Given the description of an element on the screen output the (x, y) to click on. 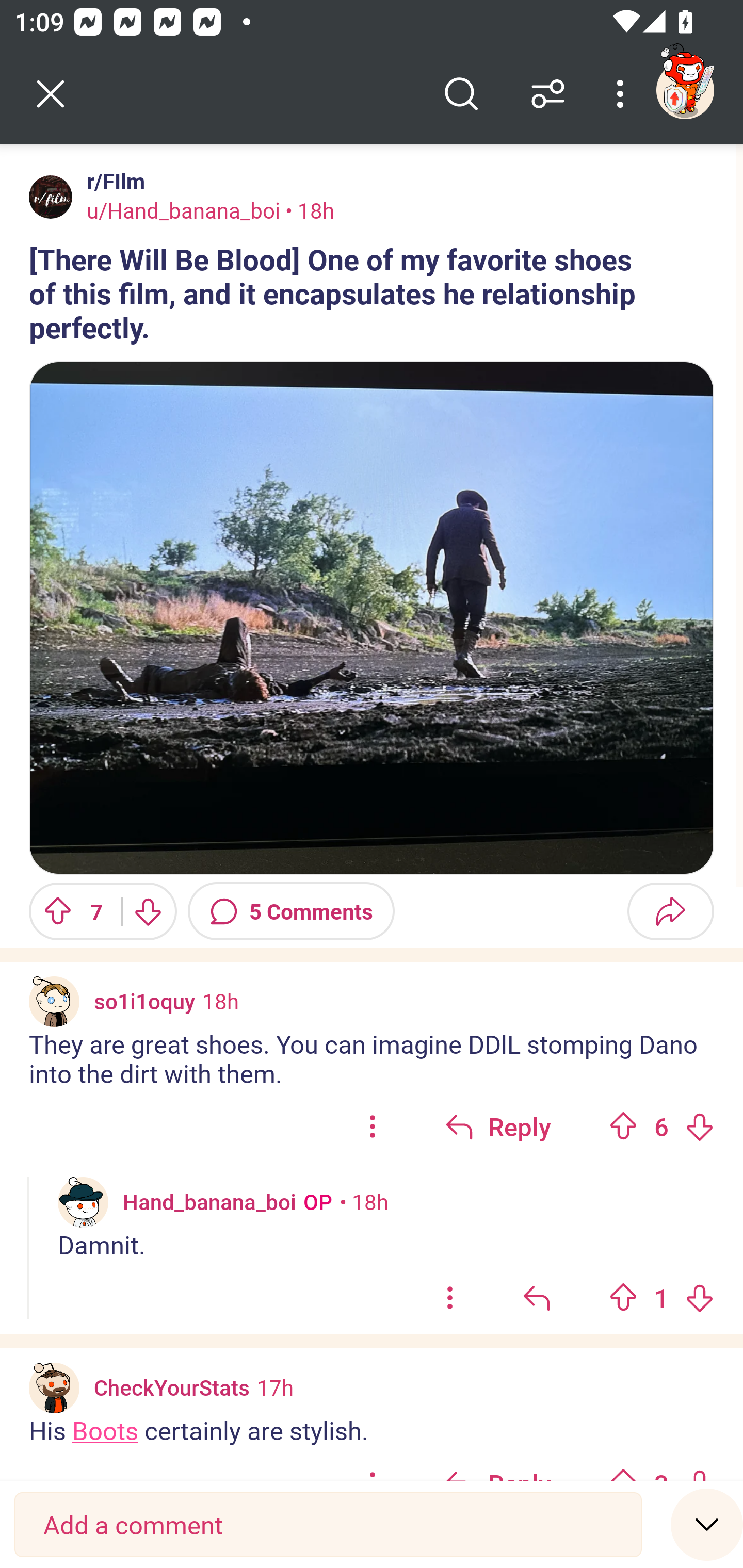
Back (50, 93)
TestAppium002 account (685, 90)
Search comments (460, 93)
Sort comments (547, 93)
More options (623, 93)
r/FIlm (112, 181)
Avatar (50, 196)
u/Hand_banana_boi (183, 210)
Image (371, 617)
Upvote 7 (67, 910)
Downvote (146, 910)
5 Comments (290, 910)
Share (670, 910)
Custom avatar (53, 1001)
18h (220, 1001)
options (372, 1125)
Reply (498, 1125)
Upvote 6 6 votes Downvote (661, 1125)
Upvote (622, 1126)
Downvote (699, 1126)
Custom avatar (82, 1202)
OP (314, 1201)
• 18h (363, 1201)
Damnit. (385, 1244)
options (449, 1298)
Upvote 1 1 vote Downvote (661, 1298)
Upvote (622, 1297)
Downvote (699, 1297)
Custom avatar (53, 1387)
17h (275, 1386)
His Boots certainly are stylish. (371, 1429)
Speed read (706, 1524)
Add a comment (327, 1524)
